Given the description of an element on the screen output the (x, y) to click on. 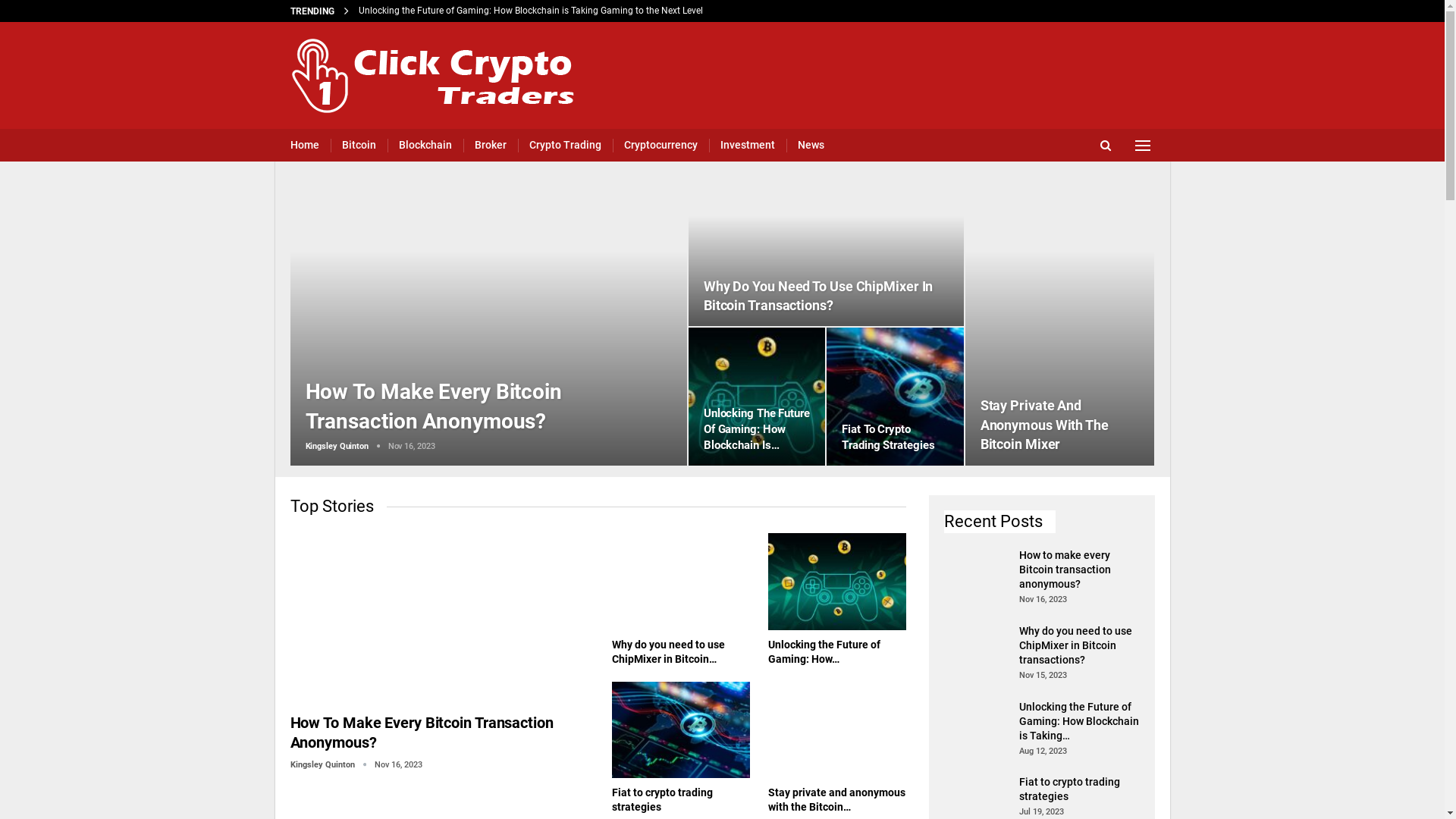
Why do you need to use ChipMixer in Bitcoin transactions? Element type: hover (826, 252)
Why do you need to use ChipMixer in Bitcoin transactions? Element type: text (477, 10)
Kingsley Quinton Element type: text (331, 764)
Blockchain Element type: text (424, 144)
Fiat to crypto trading strategies Element type: text (661, 799)
Fiat to crypto trading strategies Element type: hover (894, 395)
Fiat to crypto trading strategies Element type: text (1069, 788)
Why do you need to use ChipMixer in Bitcoin transactions? Element type: text (1075, 644)
Broker Element type: text (490, 144)
Investment Element type: text (747, 144)
Stay Private And Anonymous With The Bitcoin Mixer Element type: text (1044, 424)
How To Make Every Bitcoin Transaction Anonymous?  Element type: text (420, 732)
Fiat to crypto trading strategies Element type: hover (680, 729)
Crypto Trading Element type: text (565, 144)
How To Make Every Bitcoin Transaction Anonymous?  Element type: text (432, 406)
Why do you need to use ChipMixer in Bitcoin transactions? Element type: hover (976, 648)
Home Element type: text (303, 144)
Fiat To Crypto Trading Strategies Element type: text (887, 436)
Bitcoin Element type: text (358, 144)
Stay private and anonymous with the Bitcoin mixer Element type: hover (1059, 322)
Why Do You Need To Use ChipMixer In Bitcoin Transactions? Element type: text (818, 296)
Stay private and anonymous with the Bitcoin mixer Element type: hover (837, 729)
News Element type: text (810, 144)
How to make every Bitcoin transaction anonymous?  Element type: text (1064, 569)
Why do you need to use ChipMixer in Bitcoin transactions? Element type: hover (680, 581)
Cryptocurrency Element type: text (659, 144)
Kingsley Quinton Element type: text (345, 446)
